Given the description of an element on the screen output the (x, y) to click on. 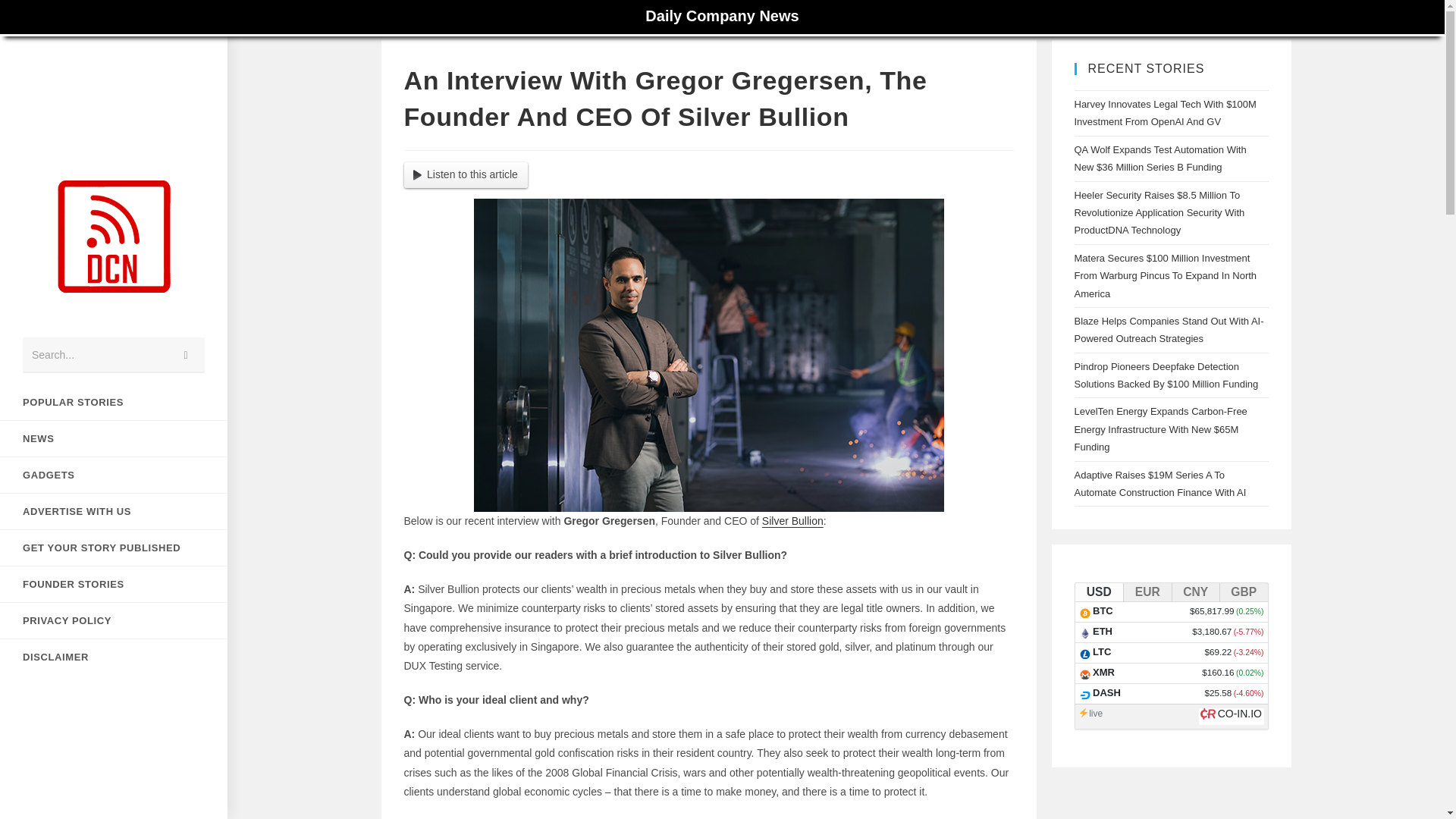
NEWS (113, 438)
Silver Bullion (792, 521)
PRIVACY POLICY (113, 620)
POPULAR STORIES (113, 402)
FOUNDER STORIES (113, 583)
GADGETS (113, 475)
ADVERTISE WITH US (113, 511)
DISCLAIMER (113, 656)
Submit search (186, 355)
GET YOUR STORY PUBLISHED (113, 547)
